Given the description of an element on the screen output the (x, y) to click on. 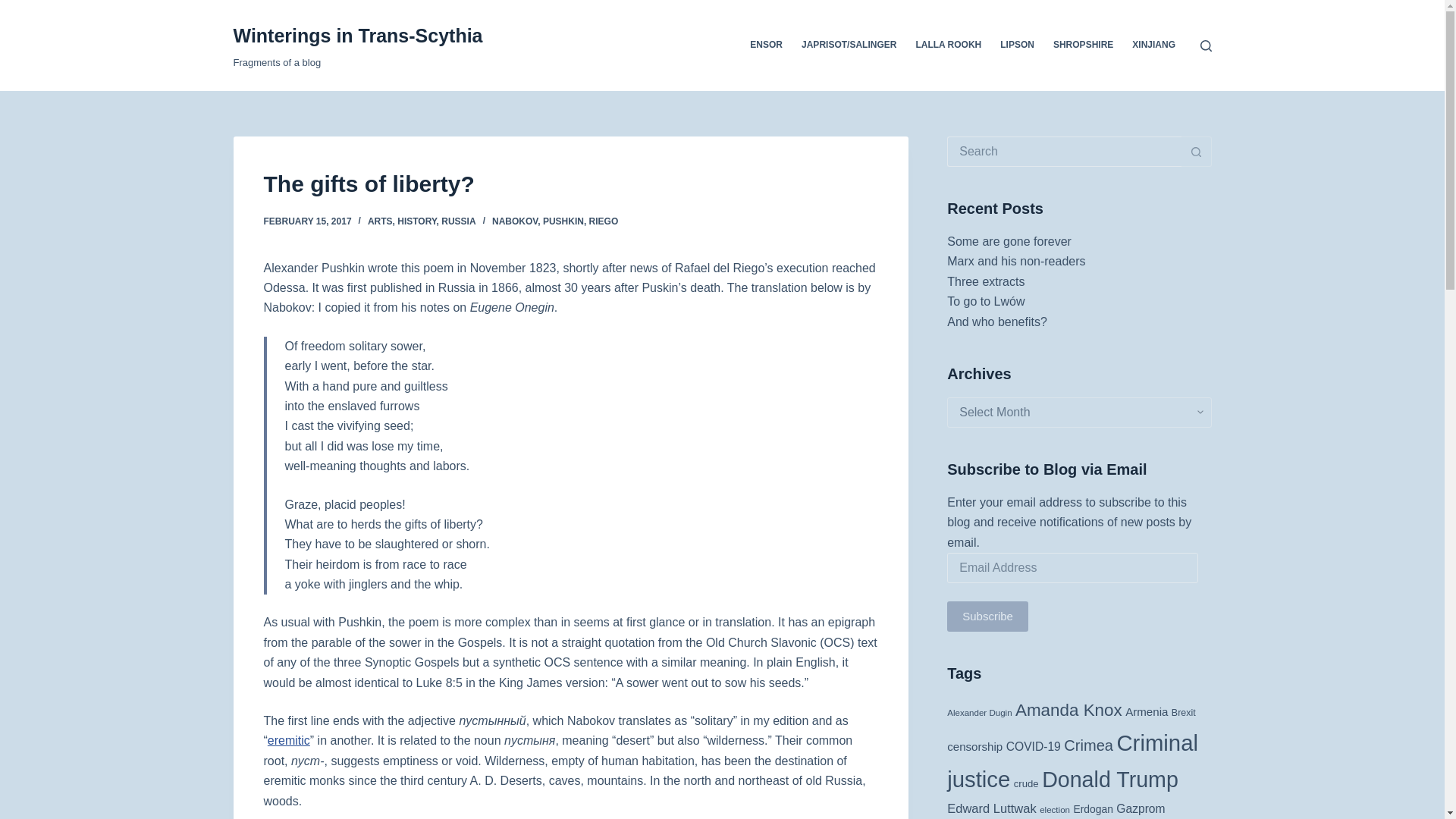
eremitic (288, 739)
RIEGO (603, 221)
RUSSIA (458, 221)
Search for... (1063, 151)
HISTORY (416, 221)
The gifts of liberty? (570, 183)
Winterings in Trans-Scythia (357, 35)
NABOKOV (514, 221)
LALLA ROOKH (948, 45)
Skip to content (15, 7)
PUSHKIN (563, 221)
ARTS (380, 221)
Some are gone forever (1009, 241)
Three extracts (986, 281)
Marx and his non-readers (1015, 260)
